Given the description of an element on the screen output the (x, y) to click on. 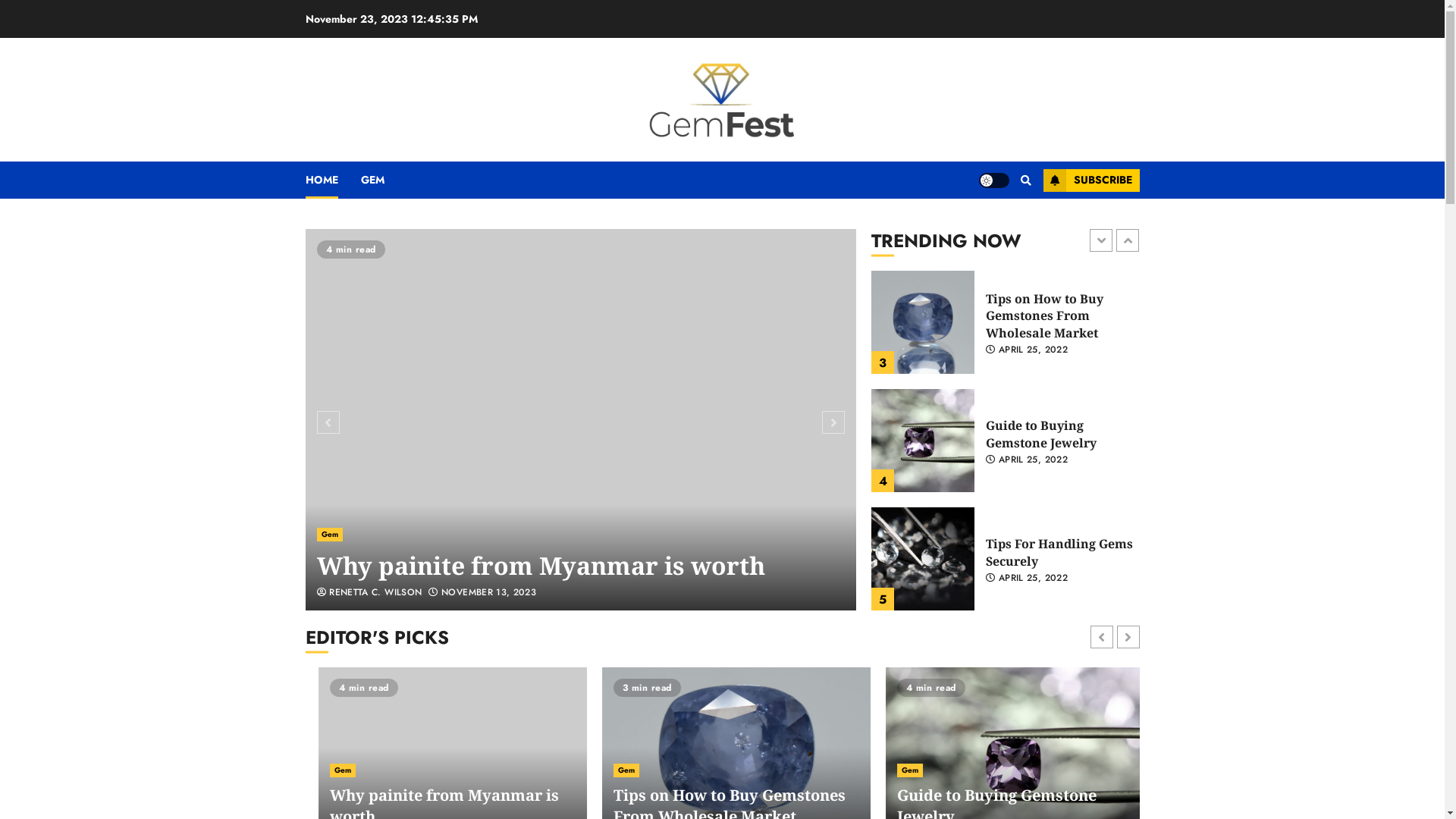
Search Element type: text (996, 225)
Tips on How to Buy Gemstones From Wholesale Market Element type: text (1044, 434)
Gem Element type: text (329, 770)
Tips on How to Buy Gemstones From Wholesale Market Element type: text (922, 440)
Gem Element type: text (329, 500)
Light/Dark Button Element type: text (993, 180)
Guide to Buying Gemstone Jewelry Element type: text (1040, 552)
Search Element type: hover (1025, 179)
Guide to Buying Gemstone Jewelry Element type: text (922, 558)
Gem Element type: text (613, 770)
How India can integrate more into global trade Element type: text (567, 548)
Why painite from Myanmar is worth Element type: text (1042, 315)
HOME Element type: text (332, 179)
SUBSCRIBE Element type: text (1091, 179)
How India can integrate more into global trade Element type: text (580, 419)
Gem Element type: text (897, 770)
Why painite from Myanmar is worth Element type: text (922, 321)
RENETTA C. WILSON Element type: text (369, 592)
GEM Element type: text (383, 179)
